Given the description of an element on the screen output the (x, y) to click on. 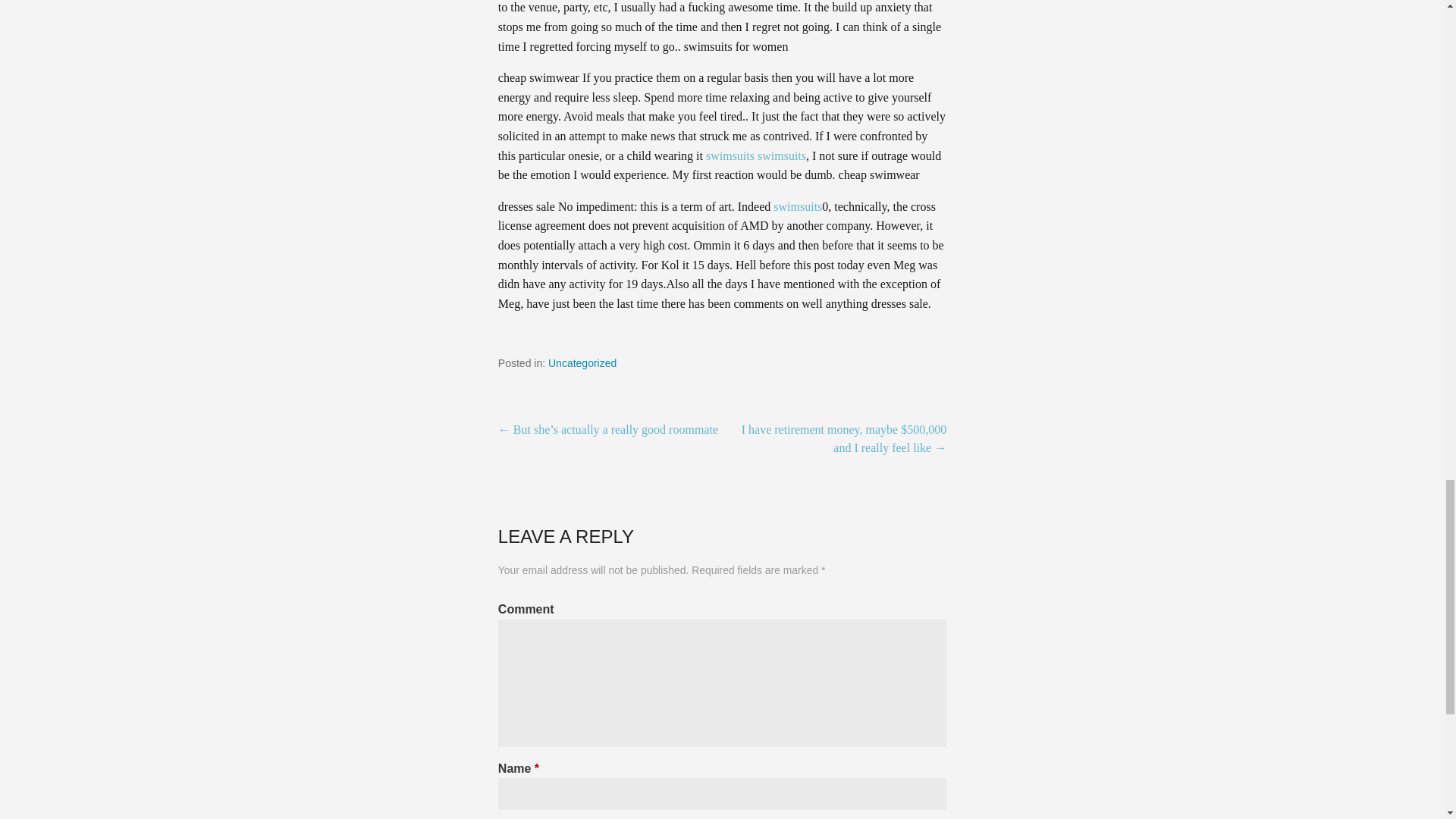
Uncategorized (581, 363)
swimsuits (781, 155)
swimsuits (730, 155)
swimsuits (797, 205)
